Given the description of an element on the screen output the (x, y) to click on. 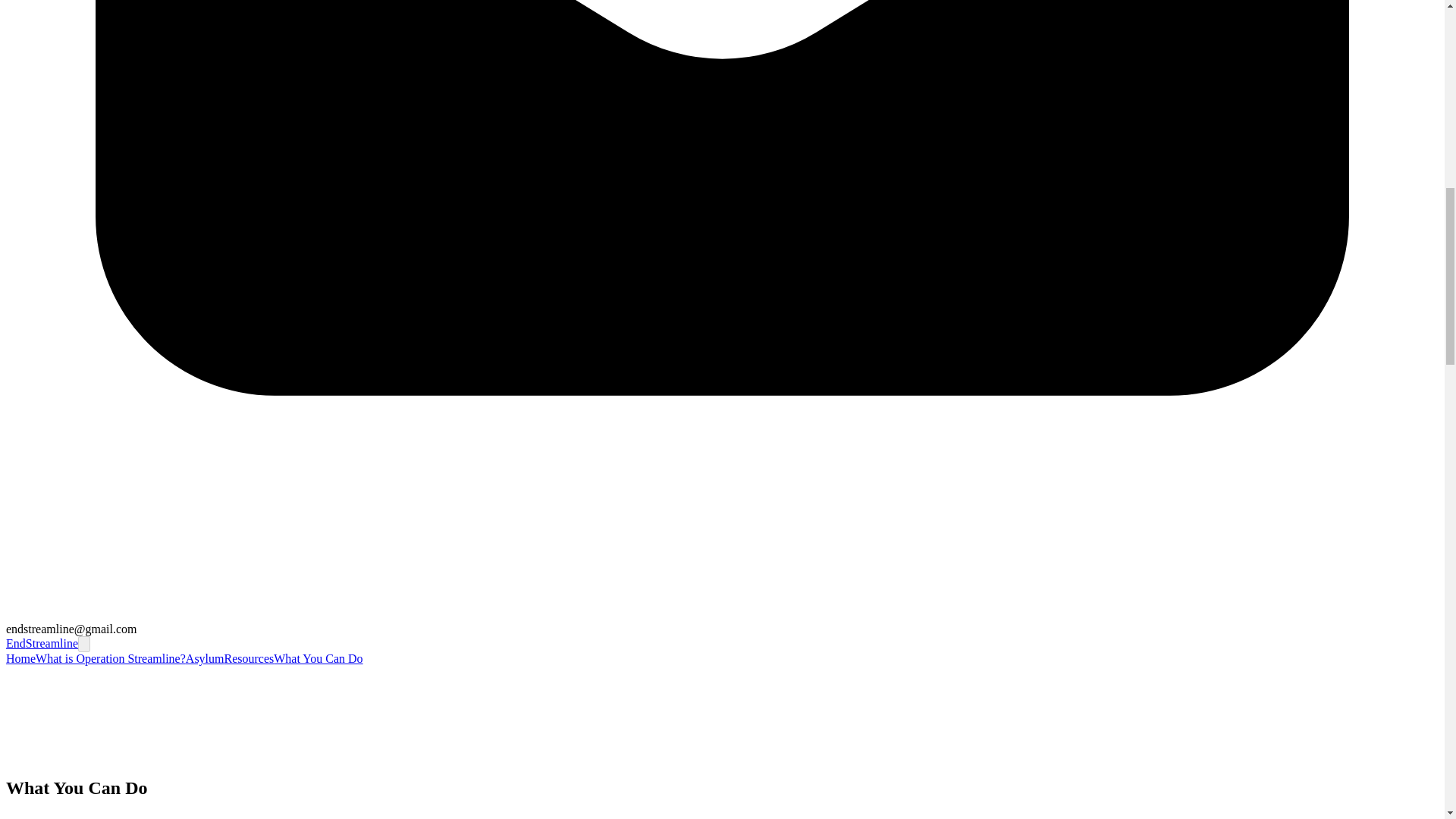
What is Operation Streamline? (110, 658)
Home (19, 658)
Asylum (205, 658)
EndStreamline (41, 643)
Resources (249, 658)
What You Can Do (317, 658)
